Given the description of an element on the screen output the (x, y) to click on. 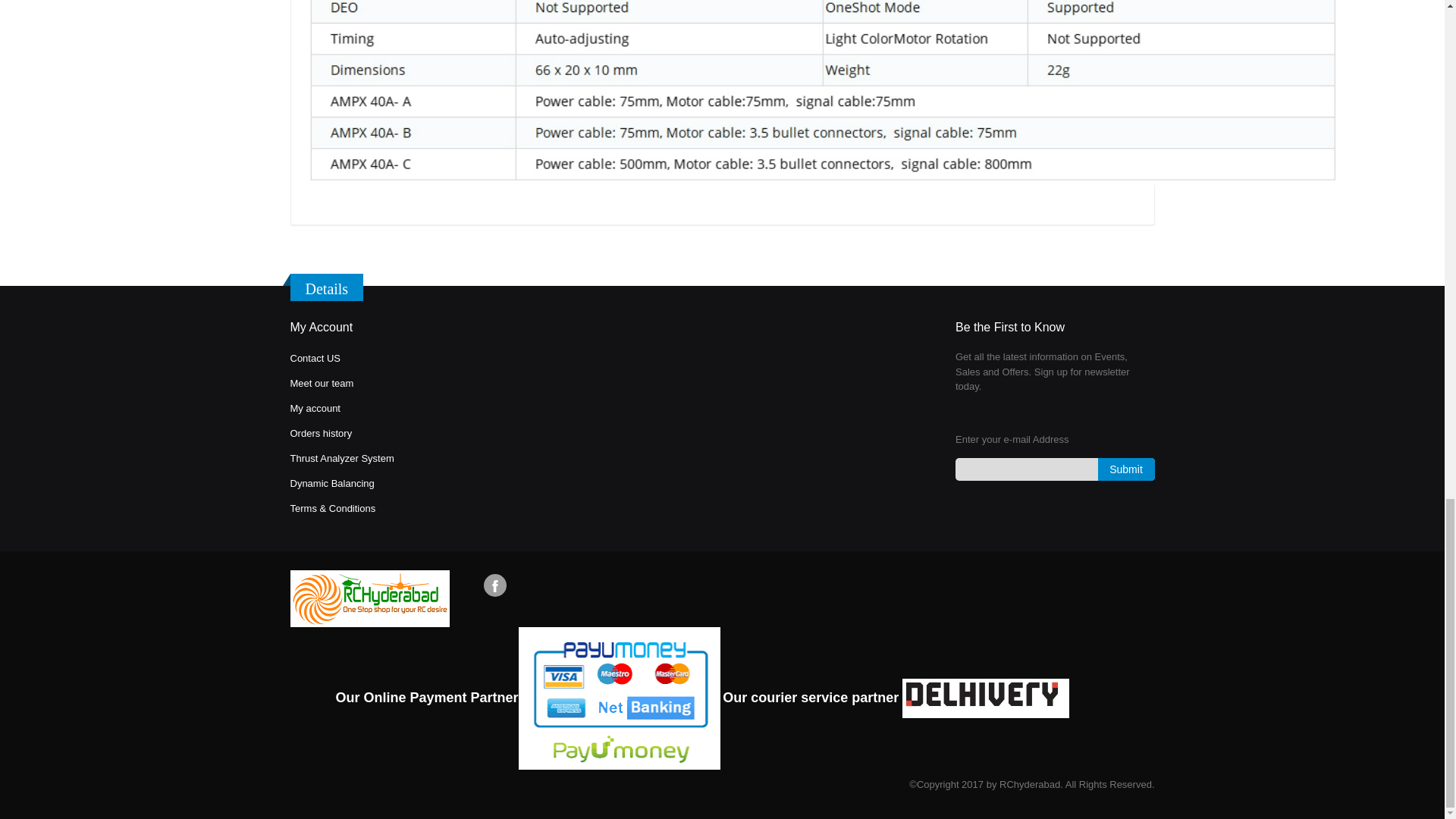
Meet our Team (321, 383)
Sign up for our newsletter (1054, 468)
Orders history (320, 432)
3D Modelling Designing Hyderabad (332, 508)
My account (314, 408)
Facebook (494, 585)
Submit (1125, 468)
About us (314, 357)
